Given the description of an element on the screen output the (x, y) to click on. 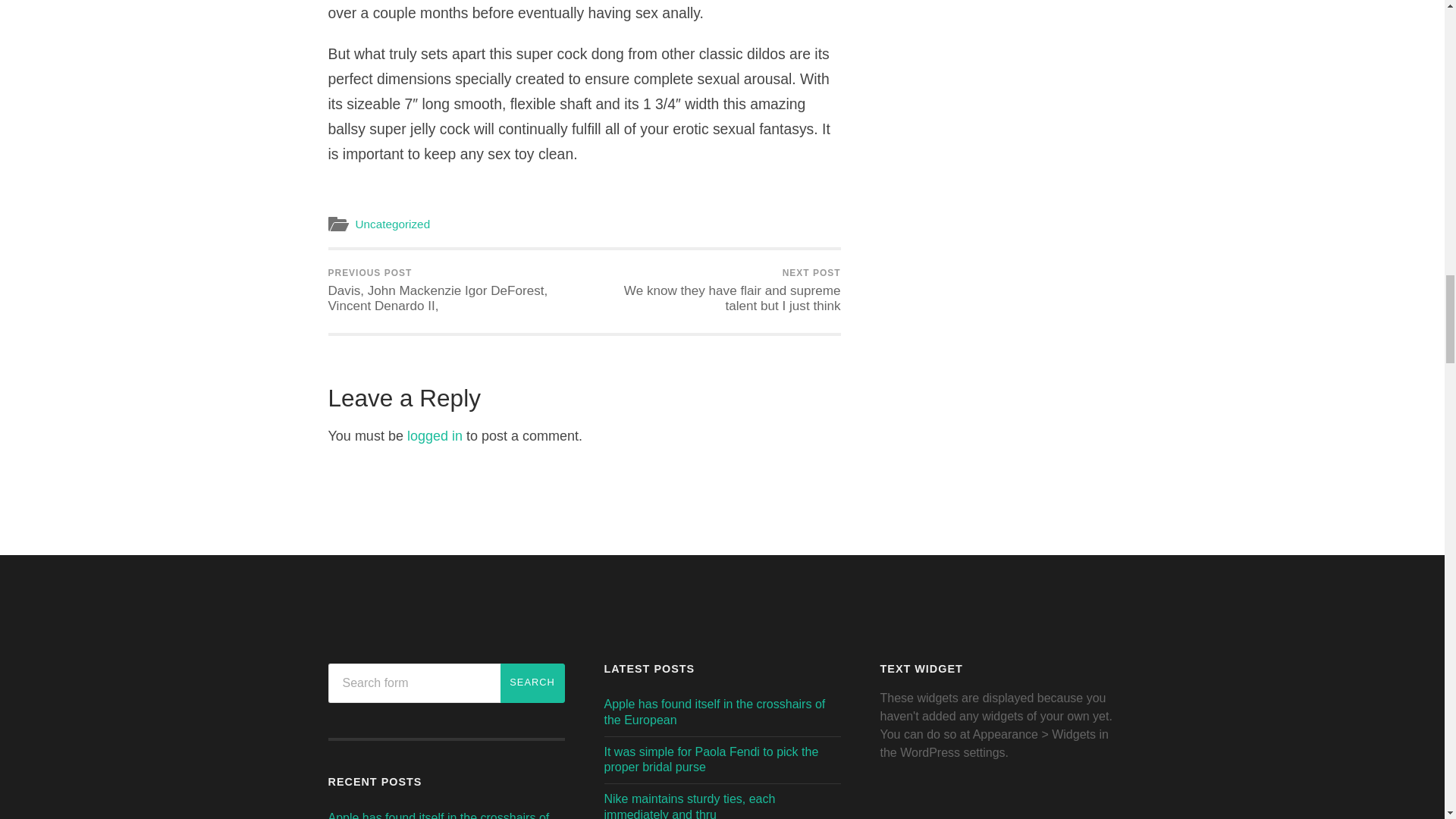
Search (532, 682)
logged in (435, 435)
View all posts in Uncategorized (392, 223)
Uncategorized (392, 223)
